Given the description of an element on the screen output the (x, y) to click on. 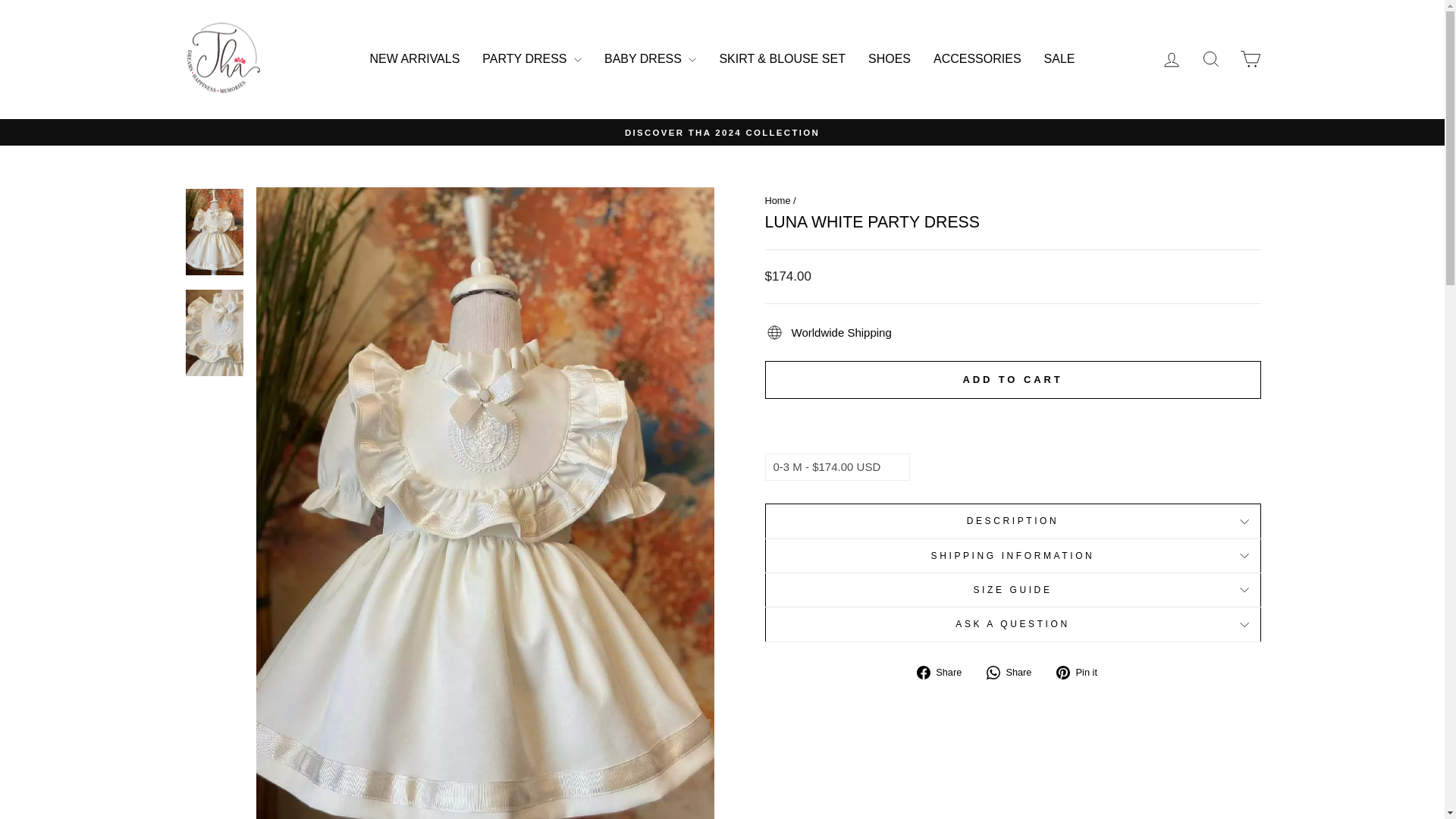
ACCOUNT (1170, 59)
Share on Whatsapp (1014, 672)
NEW ARRIVALS (414, 59)
Share on Facebook (944, 672)
ICON-SEARCH (1210, 58)
Back to the frontpage (777, 200)
SHOES (889, 59)
SALE (1059, 59)
ACCESSORIES (976, 59)
Pin on Pinterest (1082, 672)
